Given the description of an element on the screen output the (x, y) to click on. 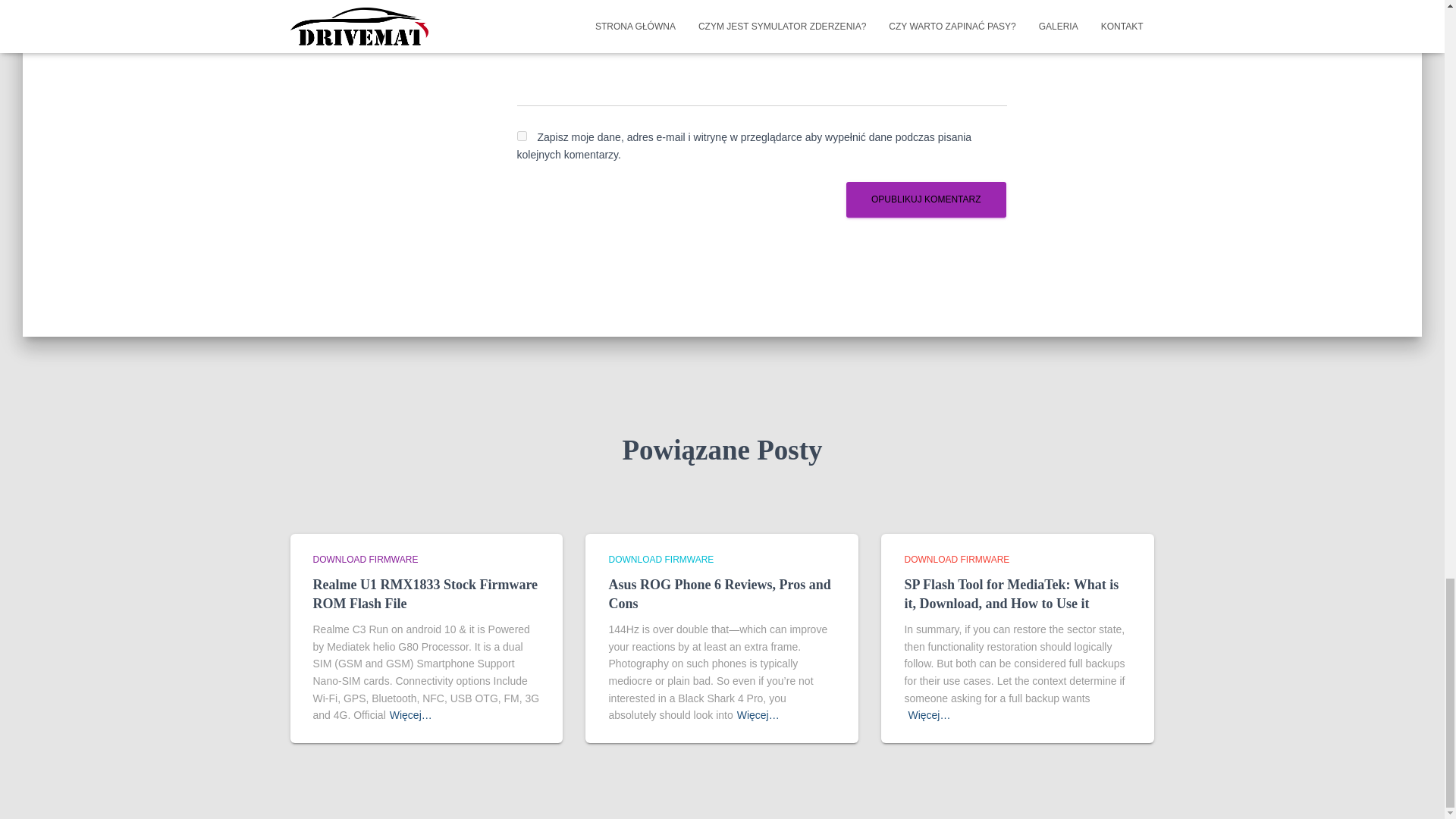
Opublikuj komentarz (925, 199)
DOWNLOAD FIRMWARE (365, 559)
Asus ROG Phone 6 Reviews, Pros and Cons (718, 593)
DOWNLOAD FIRMWARE (660, 559)
Opublikuj komentarz (925, 199)
yes (521, 135)
Asus ROG Phone 6 Reviews, Pros and Cons (718, 593)
Realme U1 RMX1833 Stock Firmware ROM Flash File (425, 593)
